Given the description of an element on the screen output the (x, y) to click on. 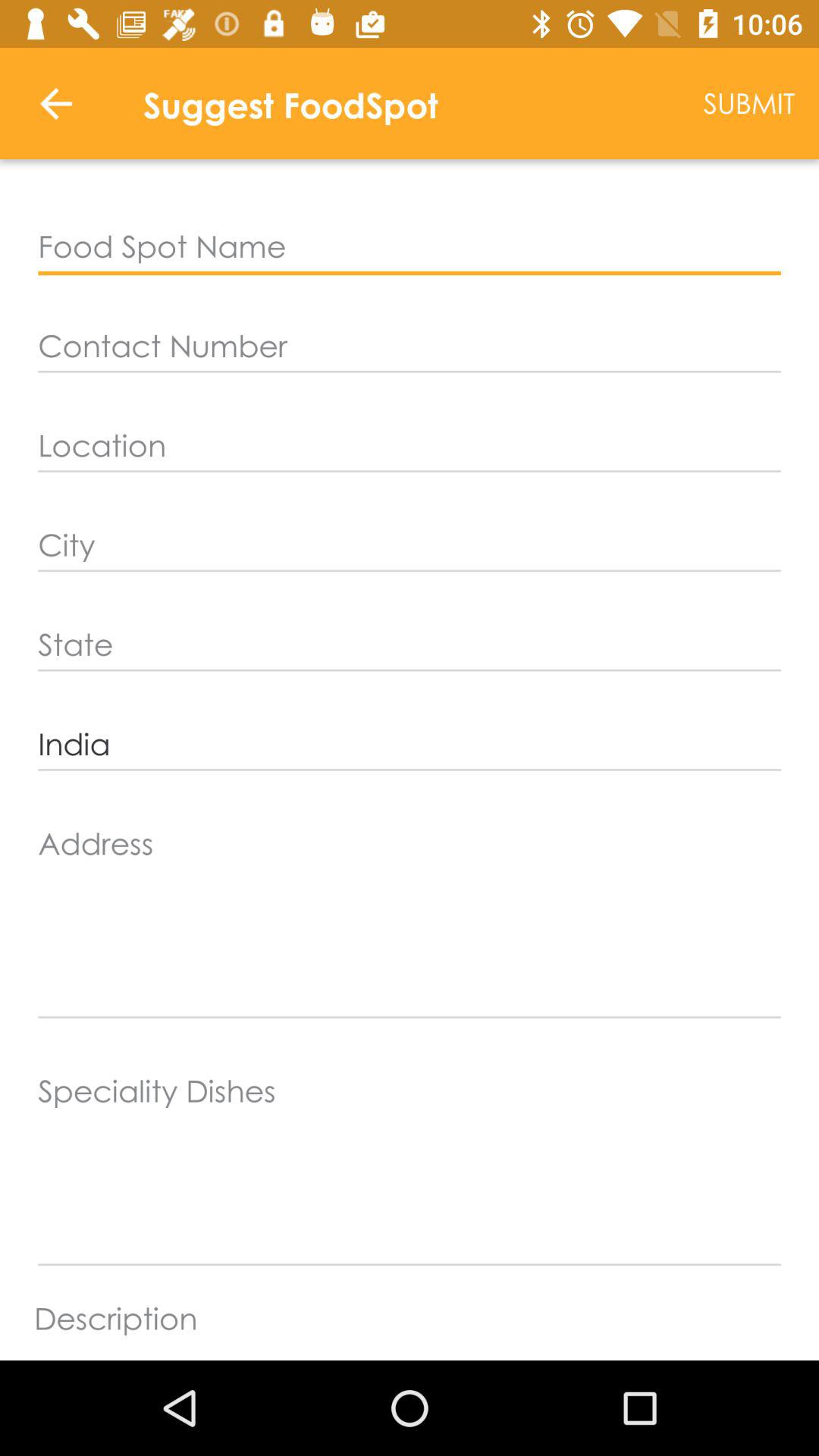
jump to the submit item (749, 103)
